Given the description of an element on the screen output the (x, y) to click on. 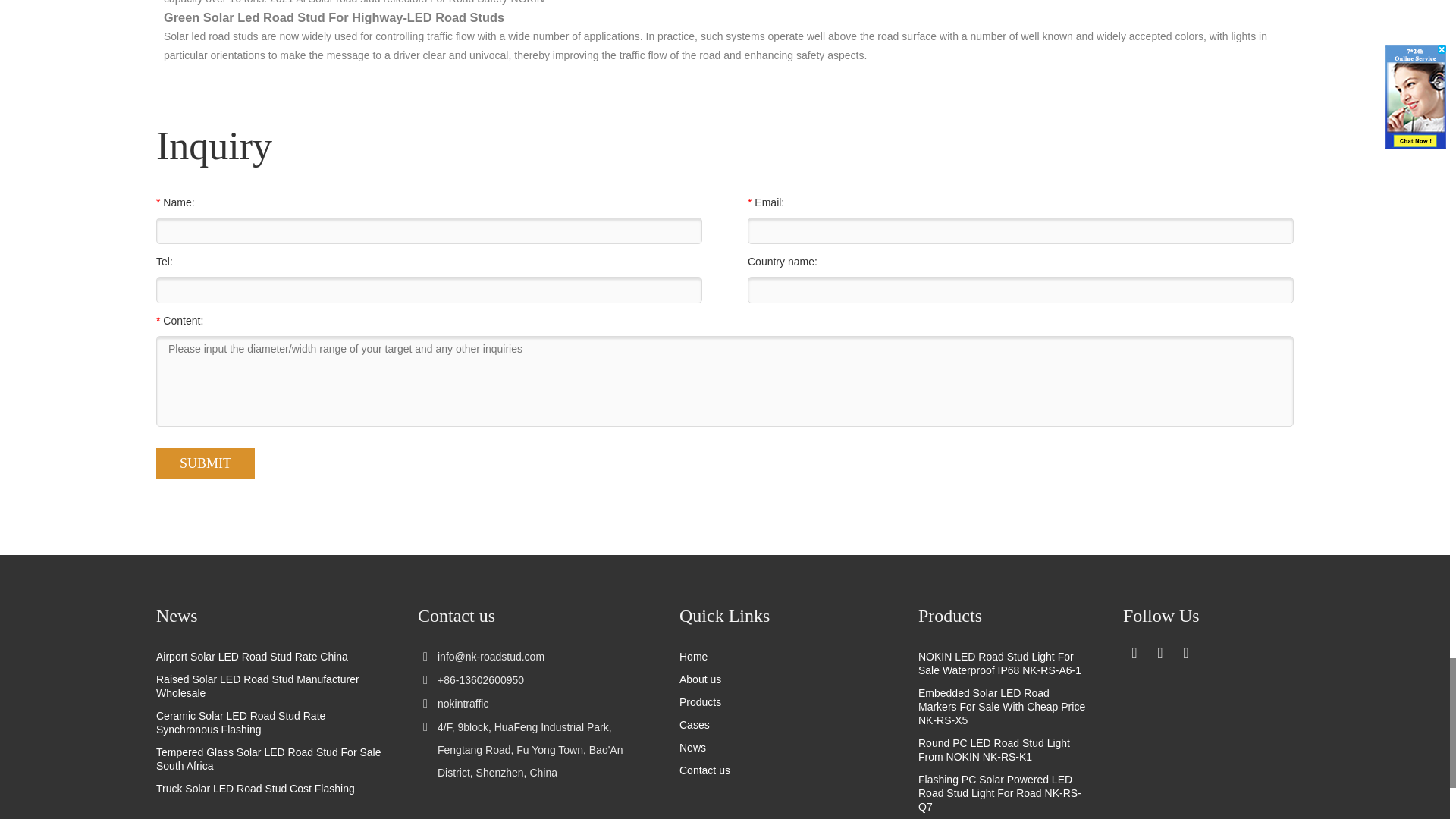
Raised Solar LED Road Stud Manufacturer Wholesale (269, 686)
News (269, 616)
Submit (204, 462)
Airport Solar LED Road Stud Rate China (269, 656)
Submit (204, 462)
Truck Solar LED Road Stud Cost Flashing (269, 788)
Tempered Glass Solar LED Road Stud For Sale South Africa (269, 759)
Ceramic Solar LED Road Stud Rate Synchronous Flashing (269, 722)
